Given the description of an element on the screen output the (x, y) to click on. 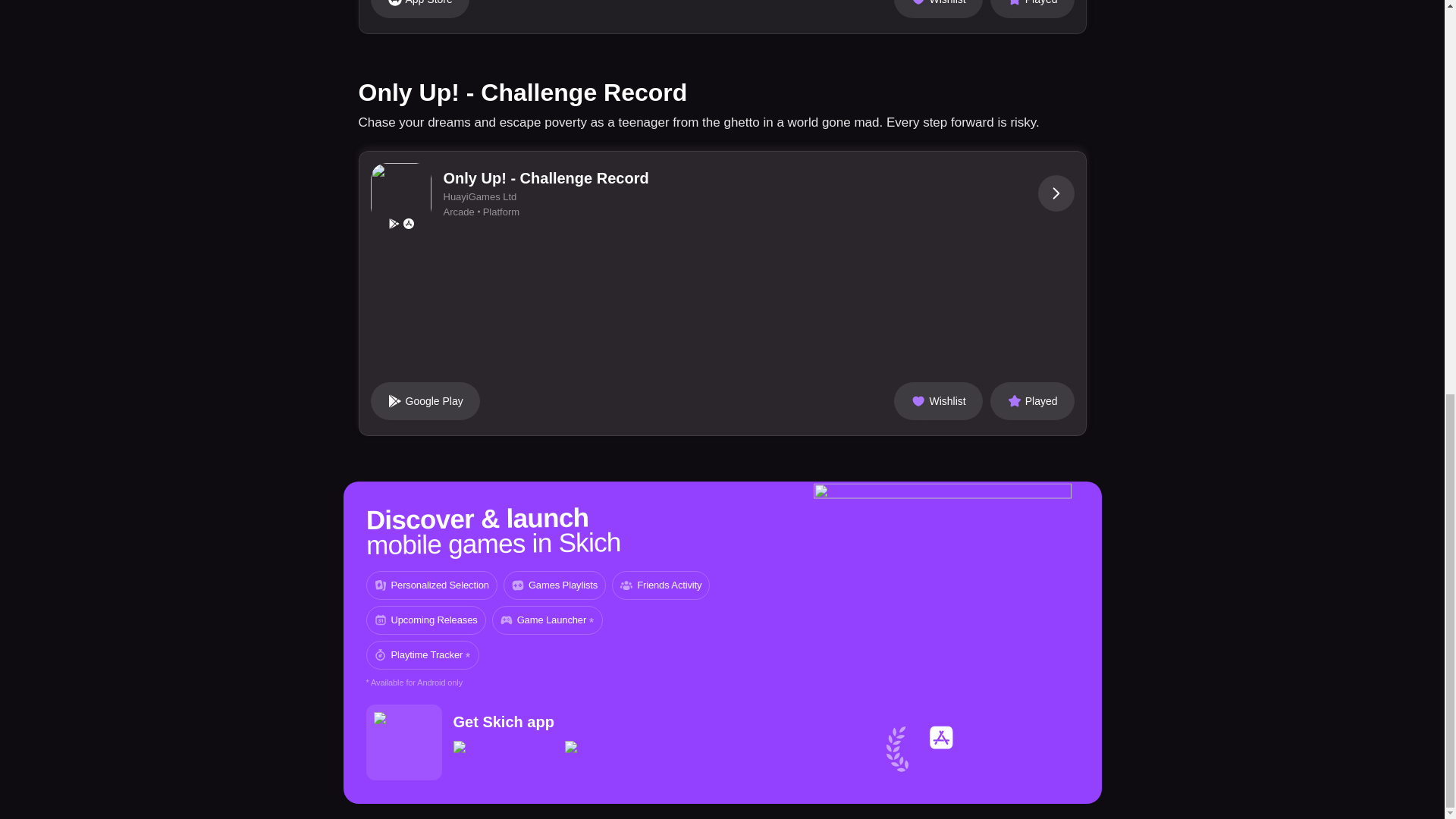
Played (1032, 9)
App Store (418, 9)
Played (1032, 401)
Google Play (424, 401)
Wishlist (937, 9)
Wishlist (937, 401)
